Given the description of an element on the screen output the (x, y) to click on. 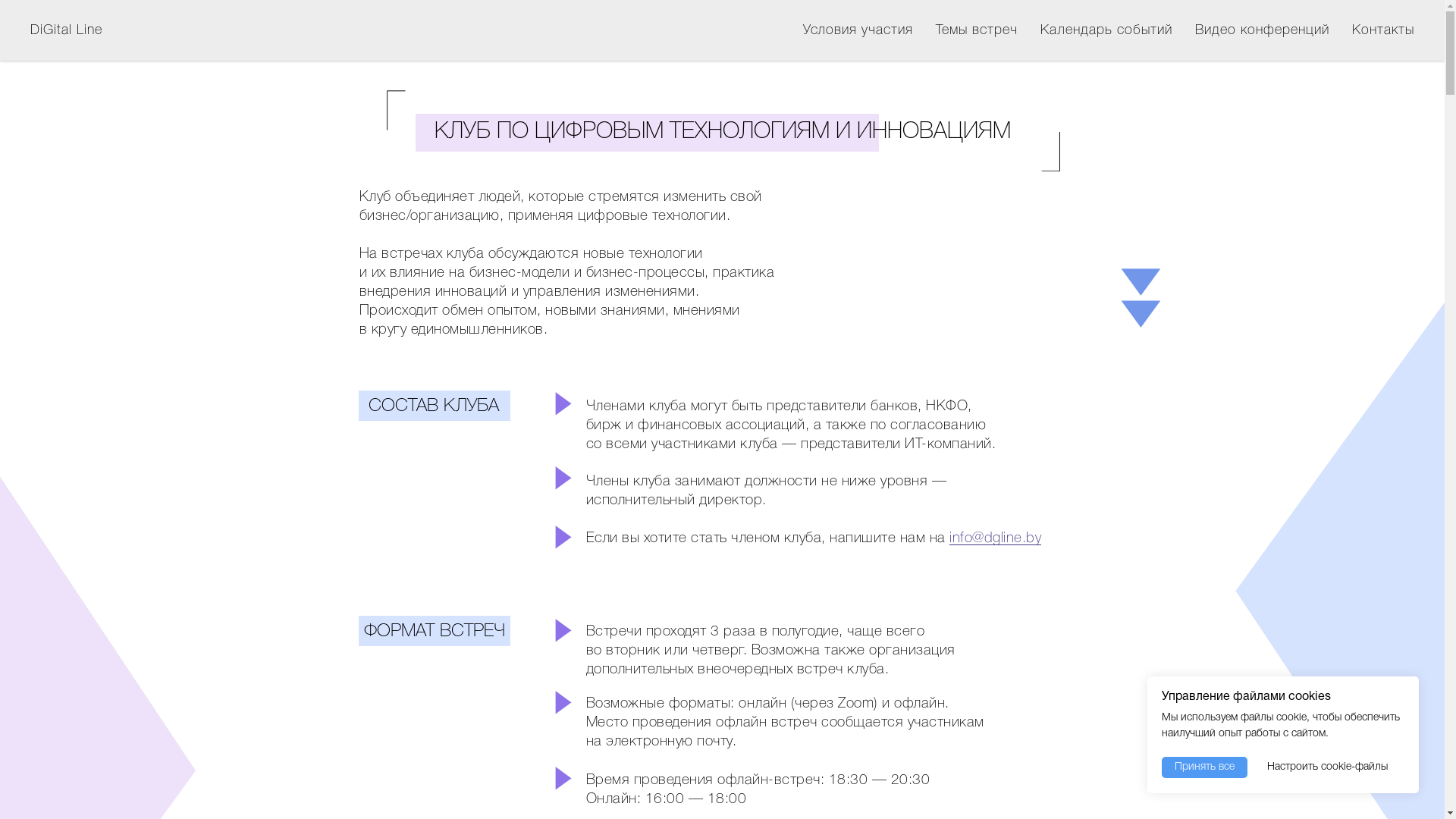
info@dgline.by Element type: text (995, 538)
DiGital Line Element type: text (77, 30)
